Given the description of an element on the screen output the (x, y) to click on. 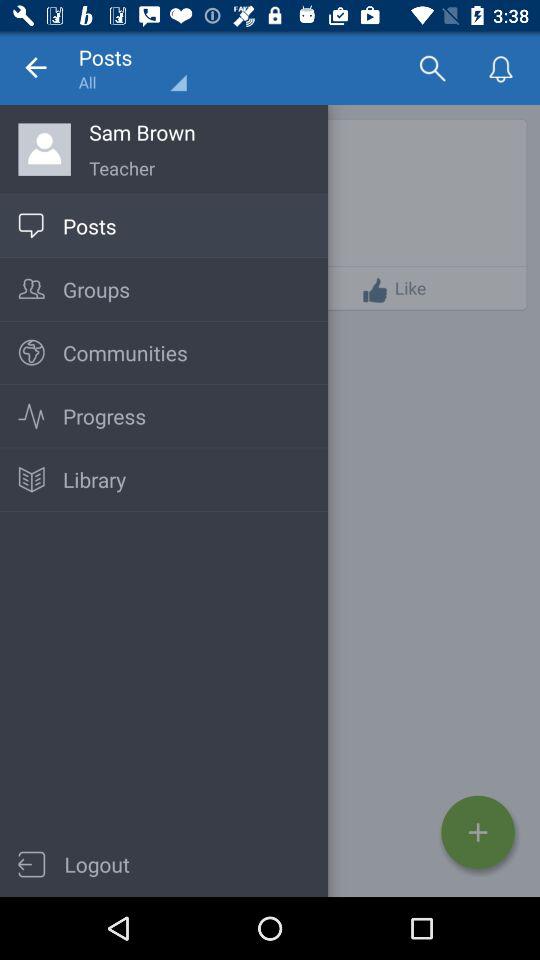
select on posts icon (30, 226)
click on the library icon (30, 479)
select the icon which is left to sam brown (43, 148)
click the icon which is at the right bottom (478, 831)
select posts (132, 67)
